Given the description of an element on the screen output the (x, y) to click on. 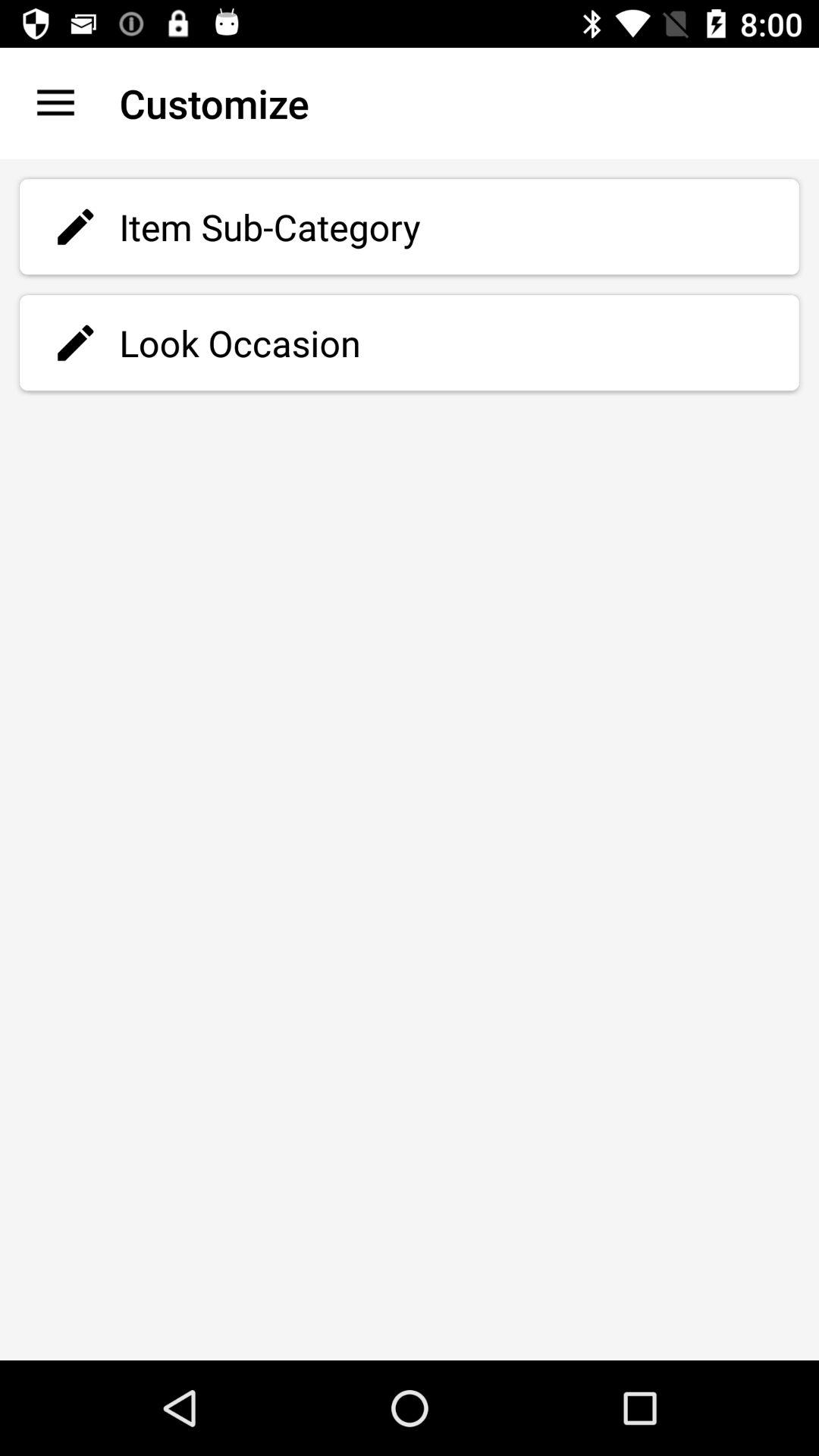
press the item above the look occasion icon (409, 226)
